Given the description of an element on the screen output the (x, y) to click on. 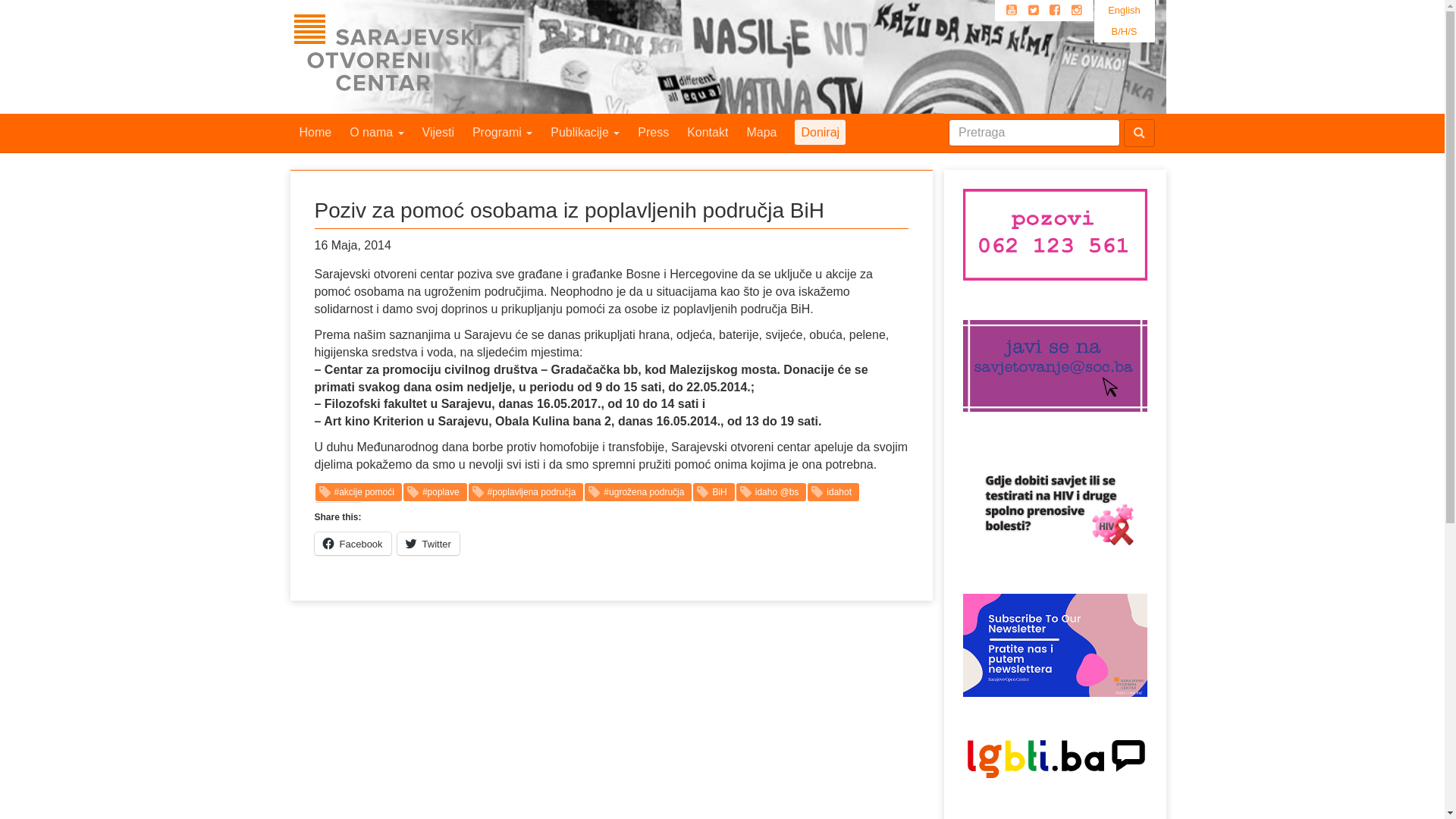
B/H/S Element type: text (1123, 31)
idaho @bs Element type: text (771, 492)
Sarajevski Otvoreni Centar Element type: hover (418, 56)
Kontakt Element type: text (707, 132)
Youtube Element type: hover (1011, 10)
Mapa Element type: text (761, 132)
idahot Element type: text (833, 492)
Doniraj Element type: text (819, 132)
Programi Element type: text (502, 132)
BiH Element type: text (713, 492)
#poplave Element type: text (435, 492)
O nama Element type: text (376, 132)
Vijesti Element type: text (438, 132)
Press Element type: text (652, 132)
Facebook Element type: text (351, 543)
Home Element type: text (314, 132)
Publikacije Element type: text (584, 132)
Twitter Element type: hover (1033, 10)
Facebook Element type: hover (1054, 10)
Twitter Element type: text (428, 543)
English Element type: text (1123, 10)
Instagram Element type: hover (1076, 10)
